Given the description of an element on the screen output the (x, y) to click on. 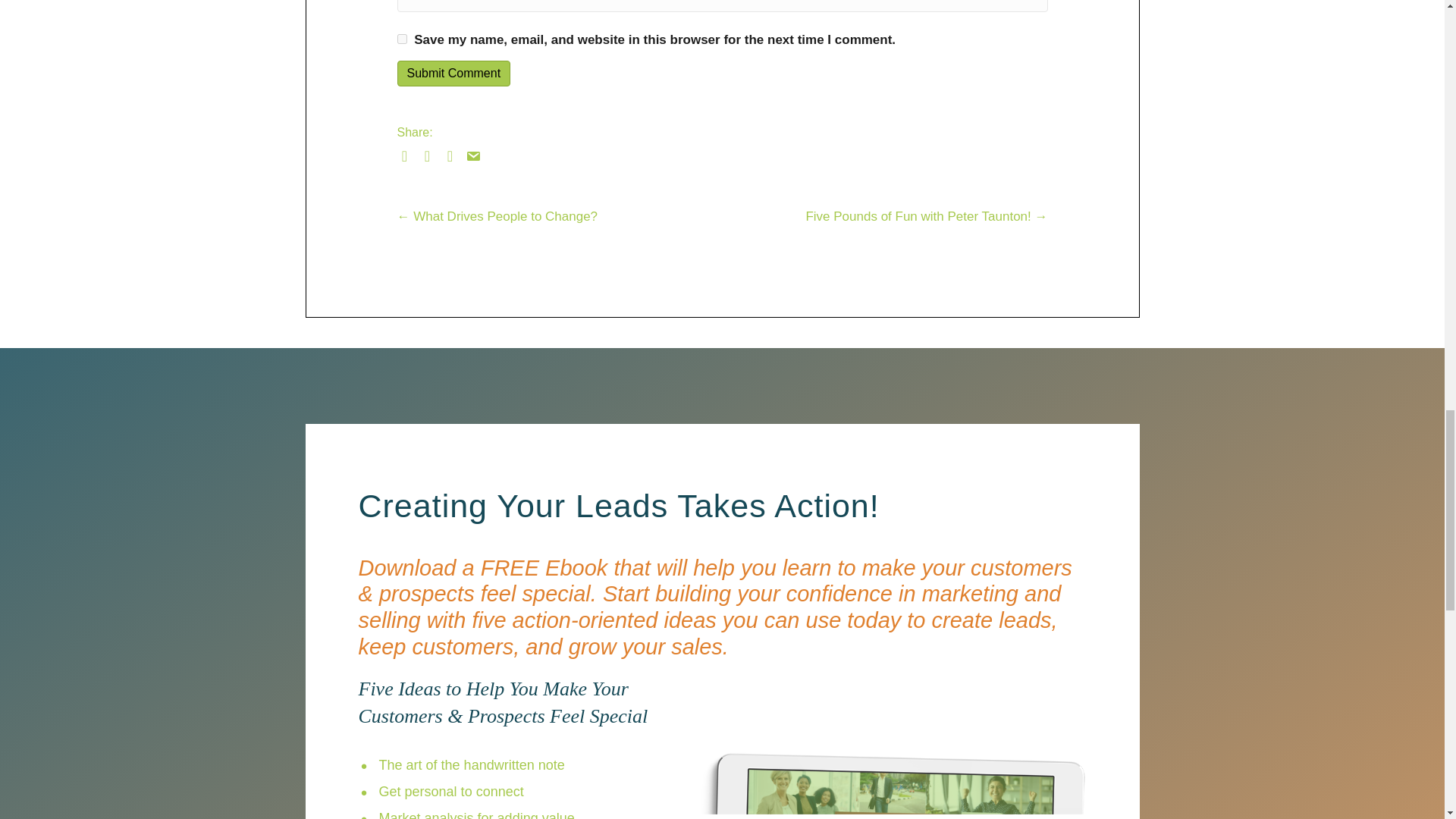
Submit Comment (454, 72)
yes (402, 39)
Submit Comment (454, 72)
Joel G Mockup iPad2 (889, 747)
